Given the description of an element on the screen output the (x, y) to click on. 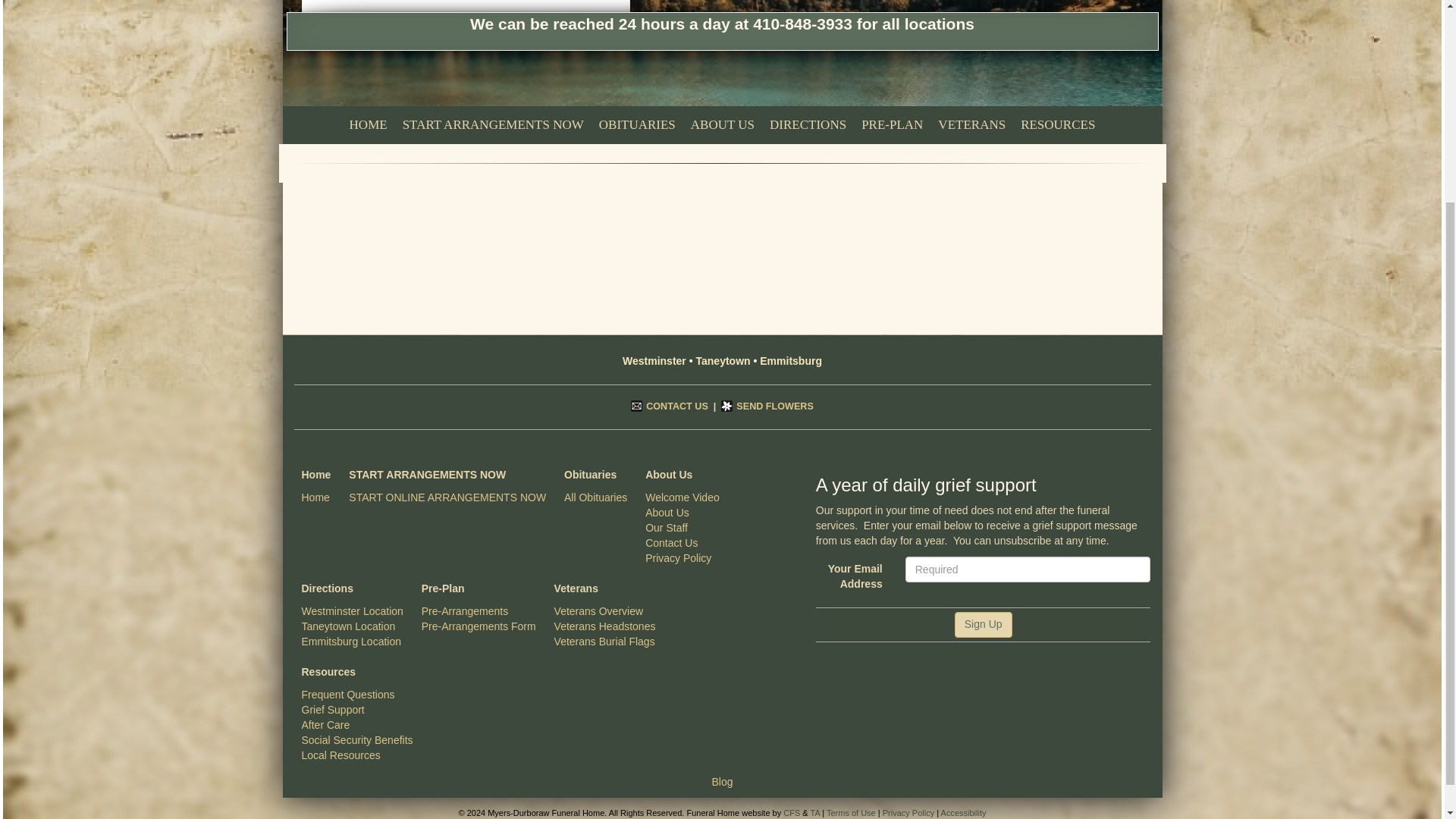
OBITUARIES (636, 125)
ABOUT US (721, 125)
RESOURCES (1057, 125)
PRE-PLAN (891, 125)
START ARRANGEMENTS NOW (492, 125)
DIRECTIONS (807, 125)
Emmitsburg (534, 21)
VETERANS (971, 125)
HOME (368, 125)
Taneytown (466, 21)
